Given the description of an element on the screen output the (x, y) to click on. 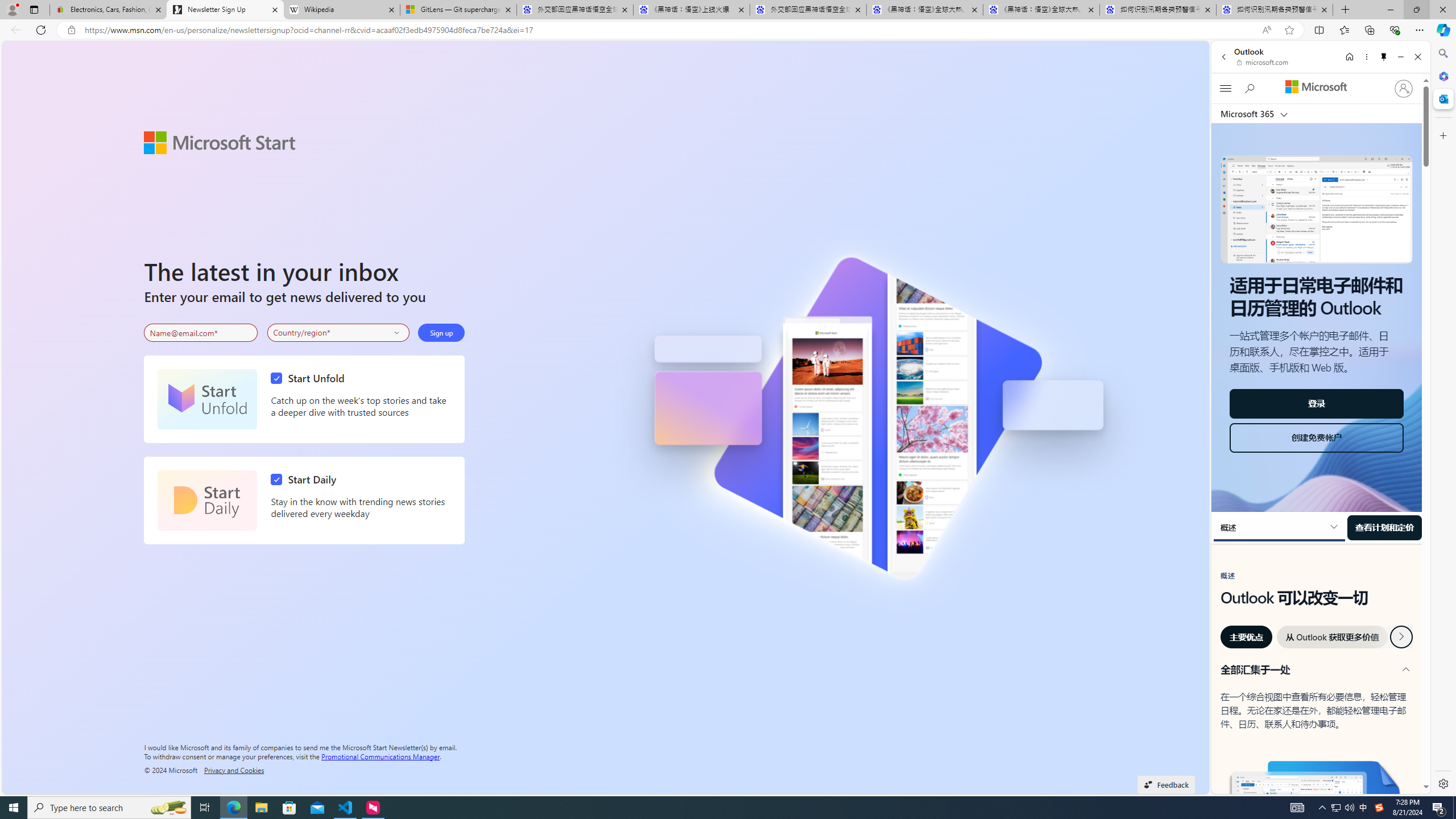
Start Daily (306, 479)
